Given the description of an element on the screen output the (x, y) to click on. 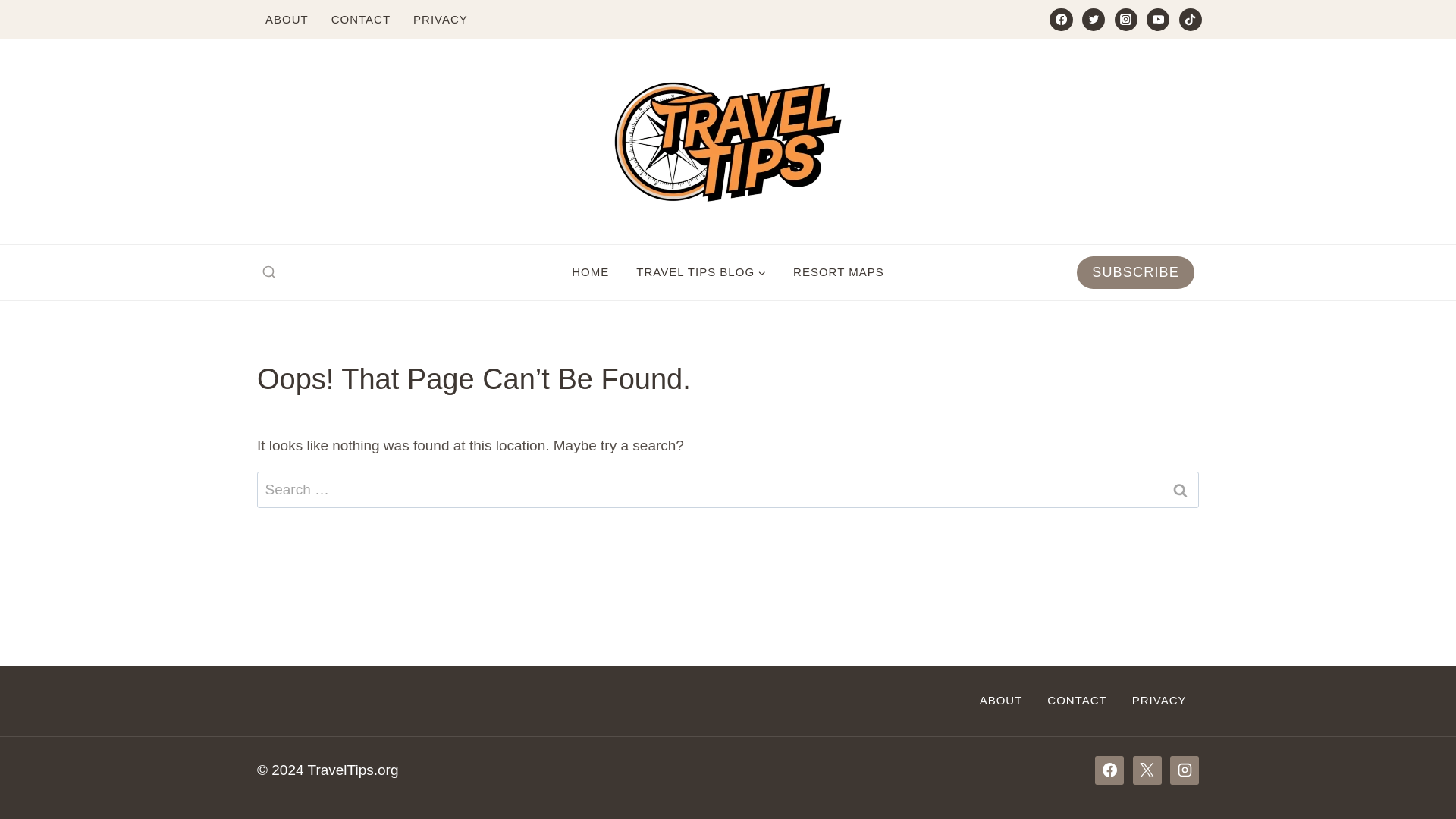
TRAVEL TIPS BLOG (700, 272)
ABOUT (1000, 700)
PRIVACY (440, 20)
RESORT MAPS (838, 272)
CONTACT (1077, 700)
Search (1179, 489)
CONTACT (360, 20)
ABOUT (286, 20)
SUBSCRIBE (1135, 272)
Search (1179, 489)
PRIVACY (1158, 700)
HOME (590, 272)
Search (1179, 489)
